Given the description of an element on the screen output the (x, y) to click on. 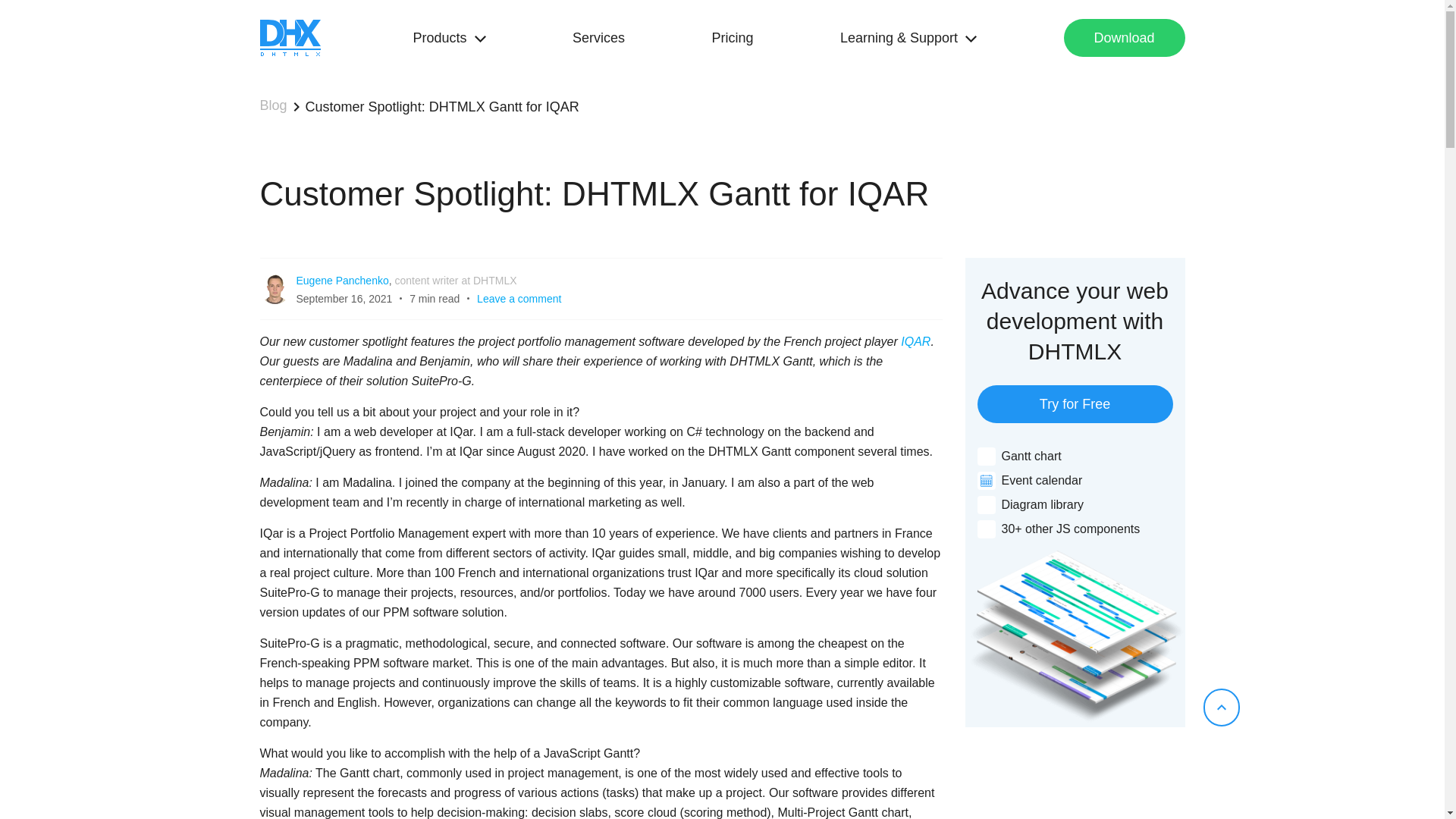
Pricing (731, 37)
Download (1123, 37)
Services (598, 37)
